Given the description of an element on the screen output the (x, y) to click on. 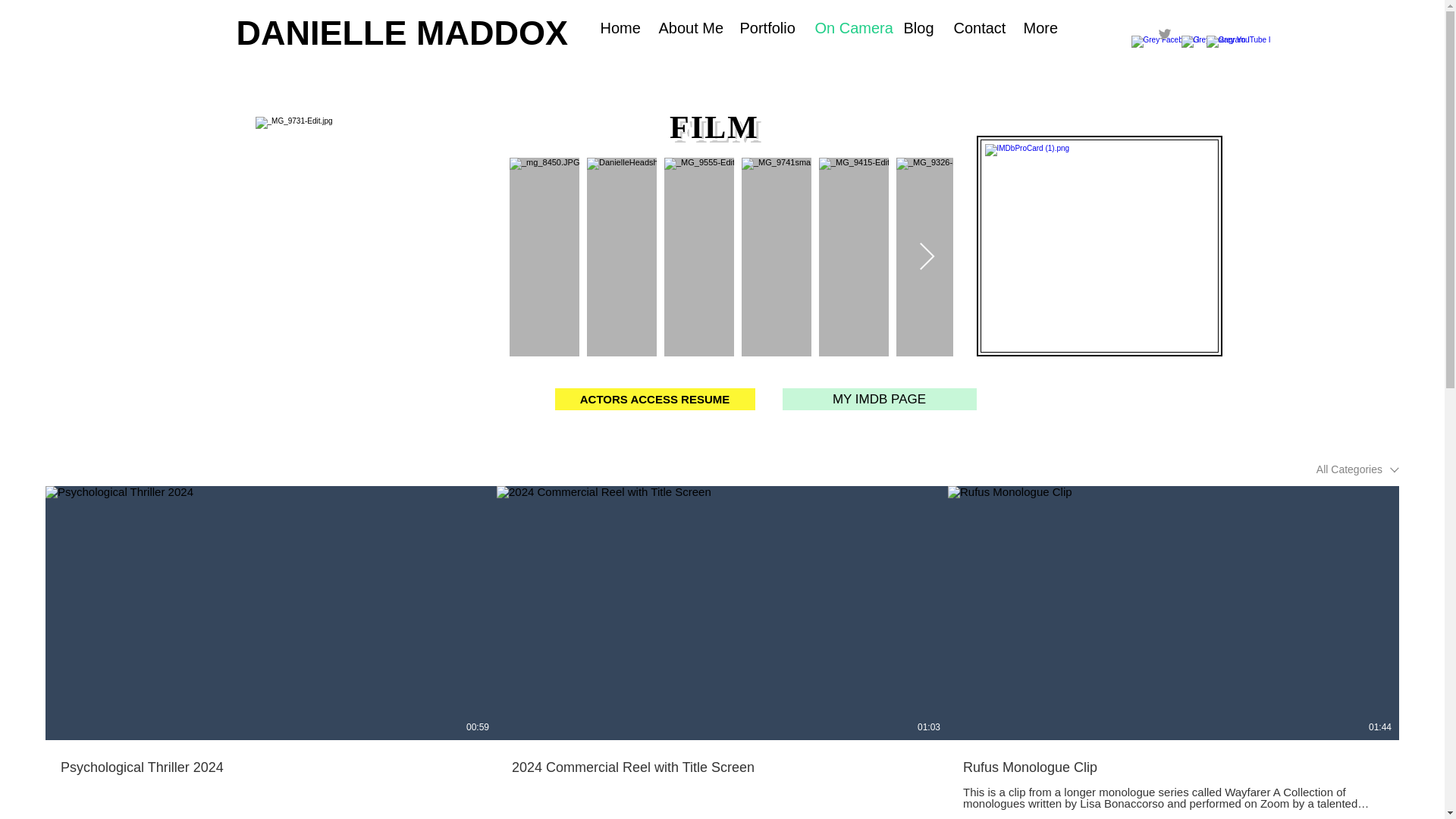
2024 Commercial Reel with Title Screen (721, 759)
Contact (976, 27)
ACTORS ACCESS RESUME (654, 399)
Psychological Thriller 2024 (270, 759)
On Camera (847, 27)
Psychological Thriller 2024 (271, 768)
Rufus Monologue Clip (1173, 768)
2024 Commercial Reel with Title Screen (722, 768)
About Me (688, 27)
Blog (916, 27)
MY IMDB PAGE (879, 399)
Home (617, 27)
Portfolio (765, 27)
